Given the description of an element on the screen output the (x, y) to click on. 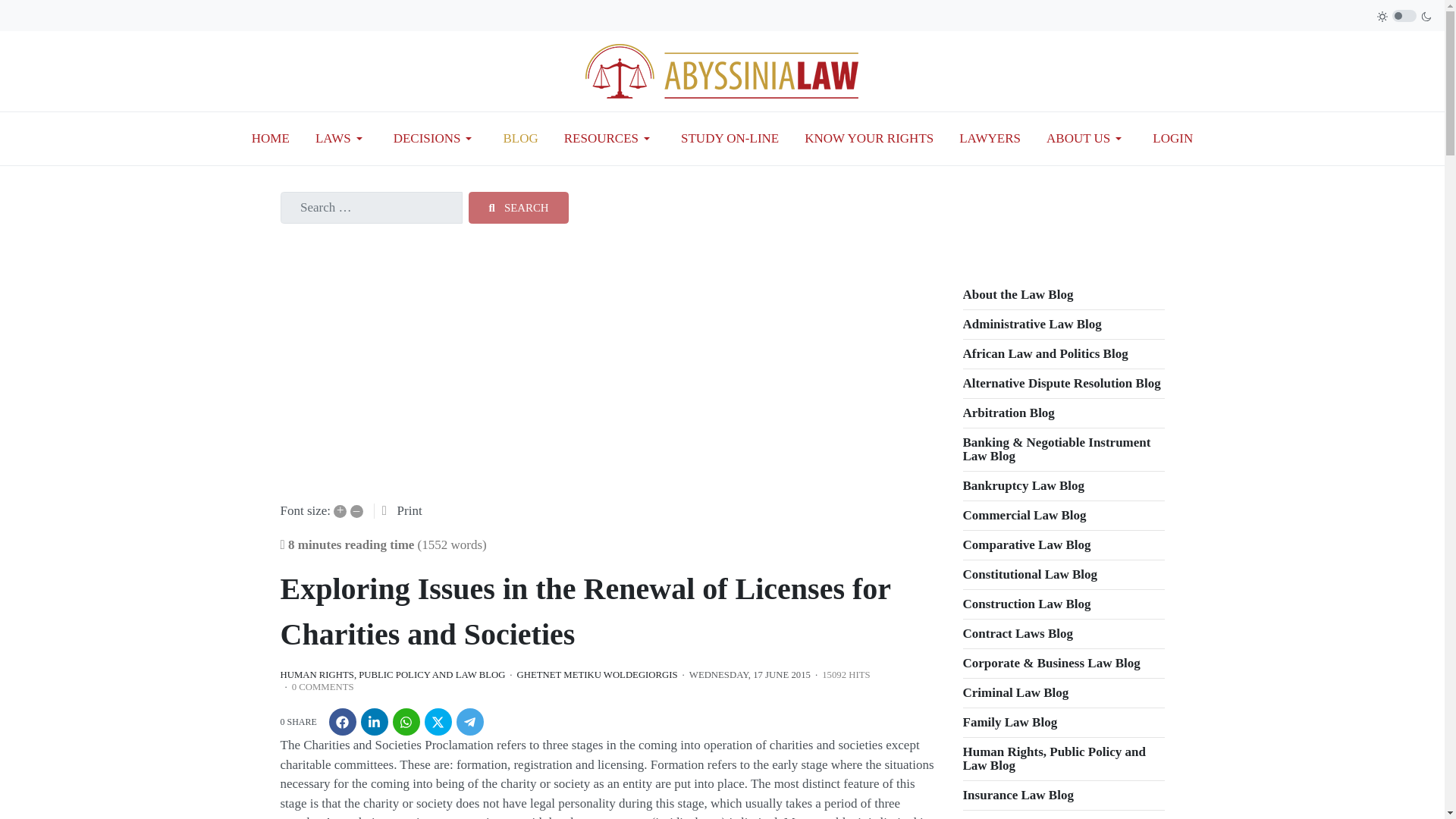
telegram (470, 721)
facebook (342, 721)
Abyssinia Law (722, 69)
STUDY ON-LINE (730, 138)
BLOG (519, 138)
HOME (270, 138)
linkedin (374, 721)
Print (409, 510)
DECISIONS (435, 138)
LAWYERS (989, 138)
